Given the description of an element on the screen output the (x, y) to click on. 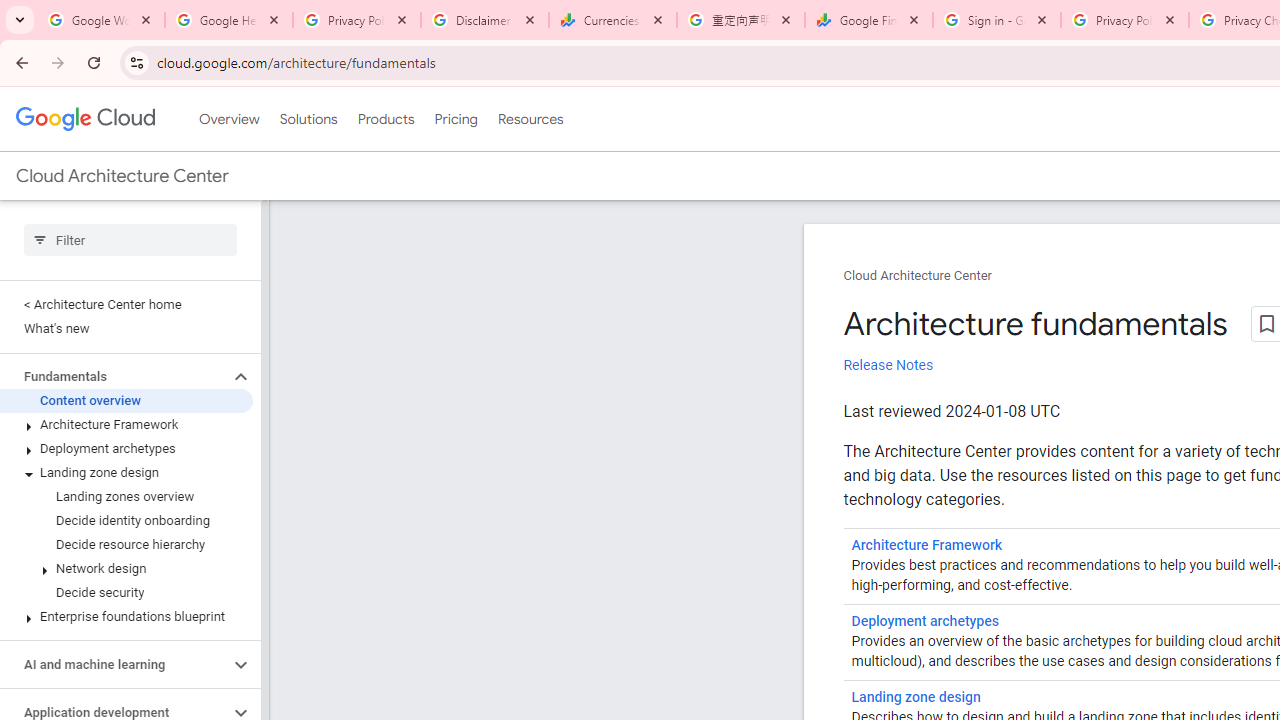
Landing zone design (126, 472)
Google Cloud (84, 118)
Currencies - Google Finance (613, 20)
Enterprise foundations blueprint (126, 616)
Deployment archetypes (924, 621)
Solutions (308, 119)
Resources (530, 119)
What's new (126, 328)
